Given the description of an element on the screen output the (x, y) to click on. 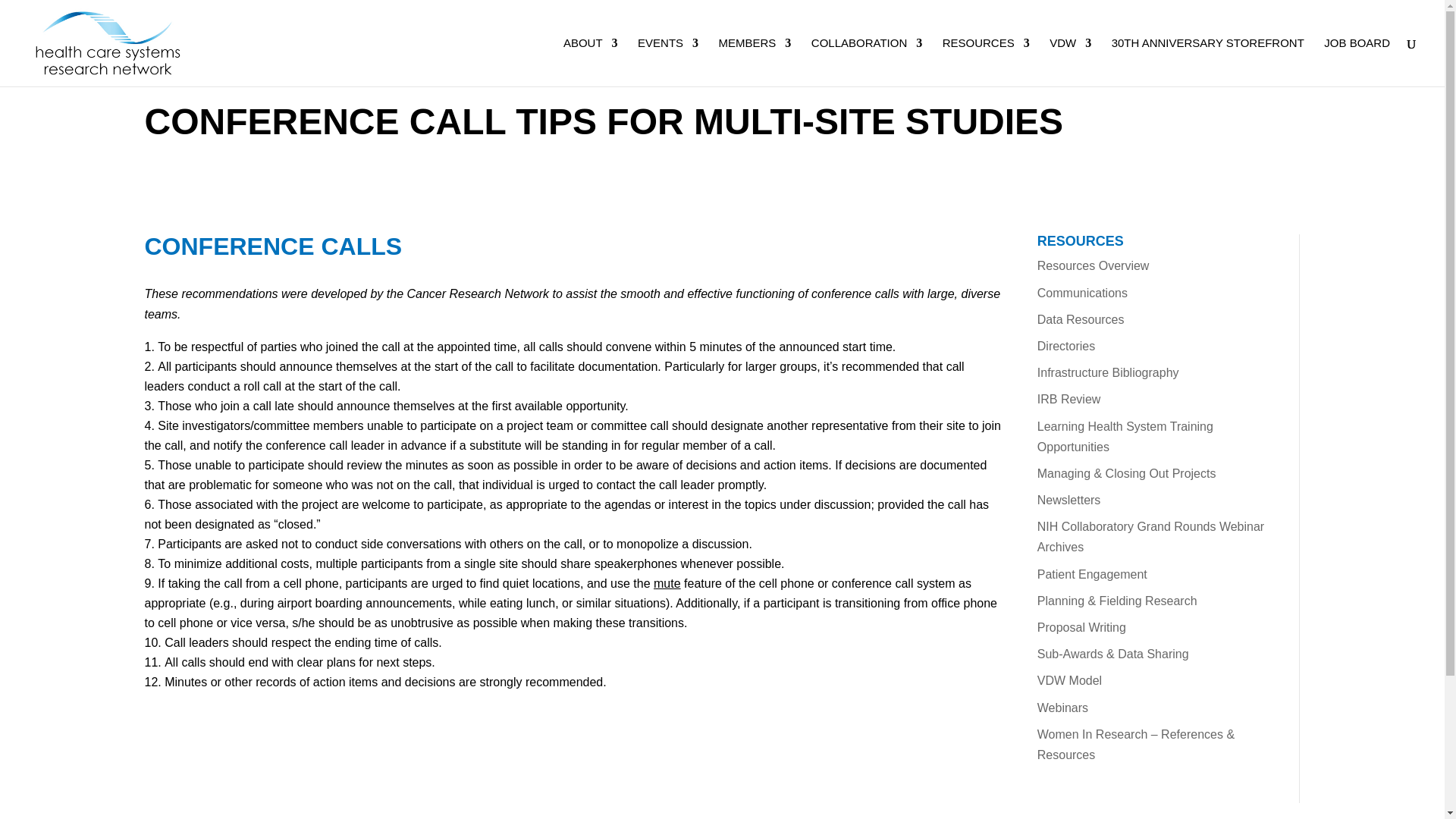
ABOUT (590, 61)
MEMBERS (755, 61)
Data Resources (1080, 318)
Communications (1081, 292)
EVENTS (667, 61)
Resources Overview (1093, 265)
30TH ANNIVERSARY STOREFRONT (1208, 61)
JOB BOARD (1356, 61)
COLLABORATION (865, 61)
RESOURCES (985, 61)
